Given the description of an element on the screen output the (x, y) to click on. 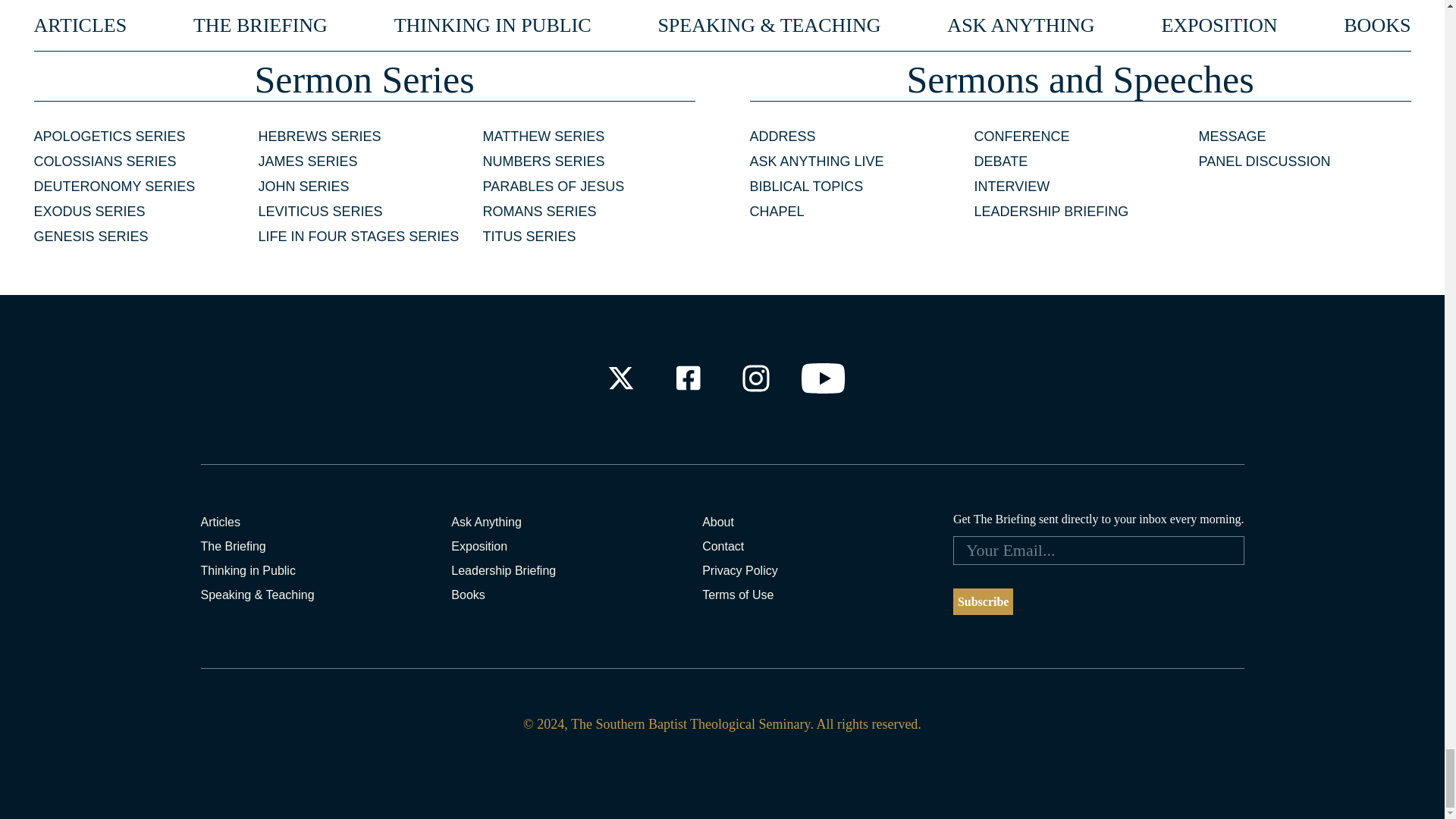
Check out our Instagram Profile (755, 377)
Subscribe (983, 601)
Check out our Facebook Profile (687, 377)
Check out our X Profile (620, 377)
Check out our Youtube Channel (822, 377)
